Given the description of an element on the screen output the (x, y) to click on. 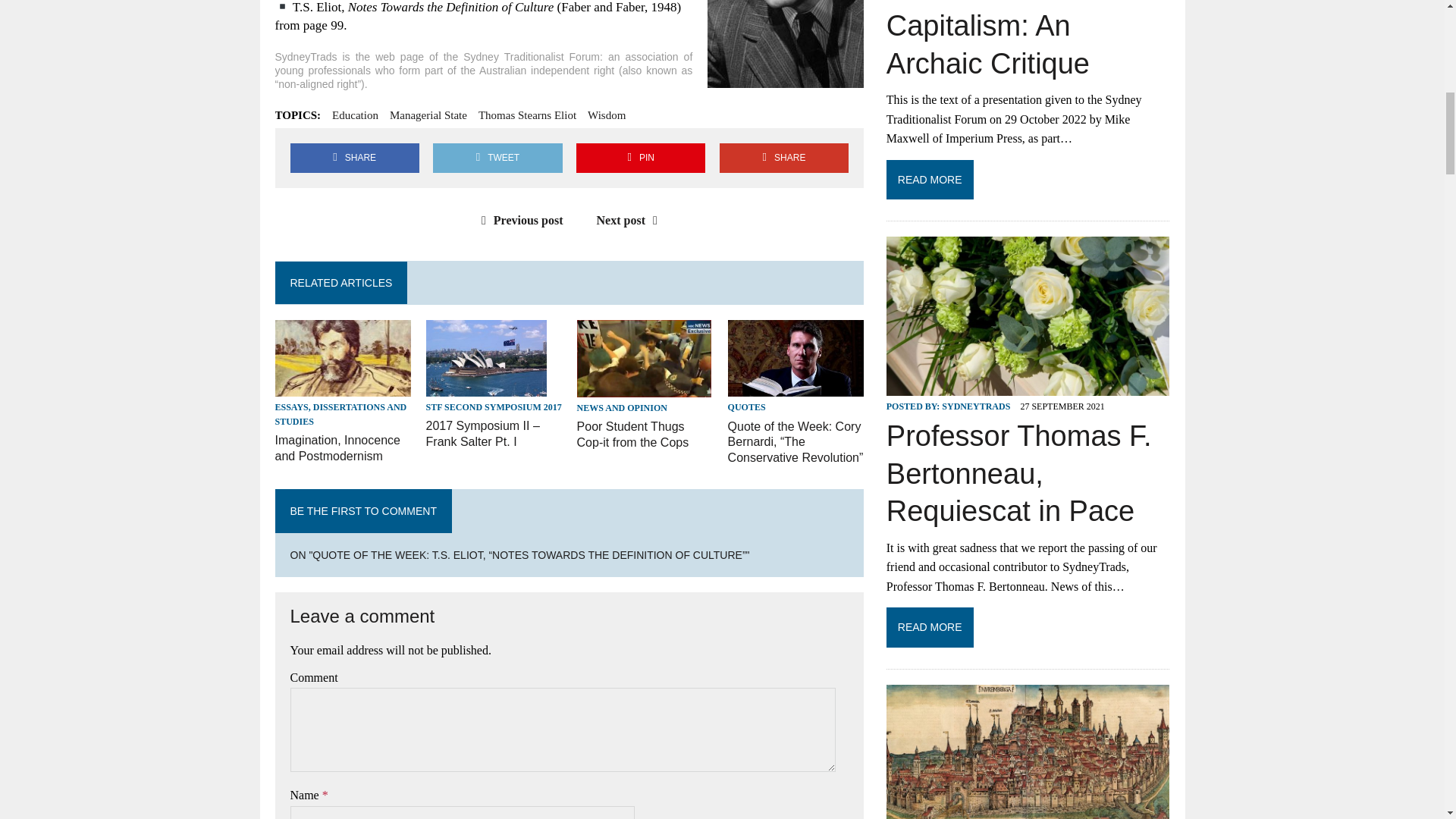
Pin This Post (640, 157)
Education (354, 115)
Wisdom (607, 115)
Managerial State (428, 115)
Thomas Stearns Eliot (527, 115)
PIN (640, 157)
Poor Student Thugs Cop-it from the Cops (632, 434)
Imagination, Innocence and Postmodernism (342, 386)
Poor Student Thugs Cop-it from the Cops (643, 386)
TWEET (497, 157)
Share on Facebook (354, 157)
SHARE (354, 157)
Tweet This Post (497, 157)
Imagination, Innocence and Postmodernism (336, 448)
